Given the description of an element on the screen output the (x, y) to click on. 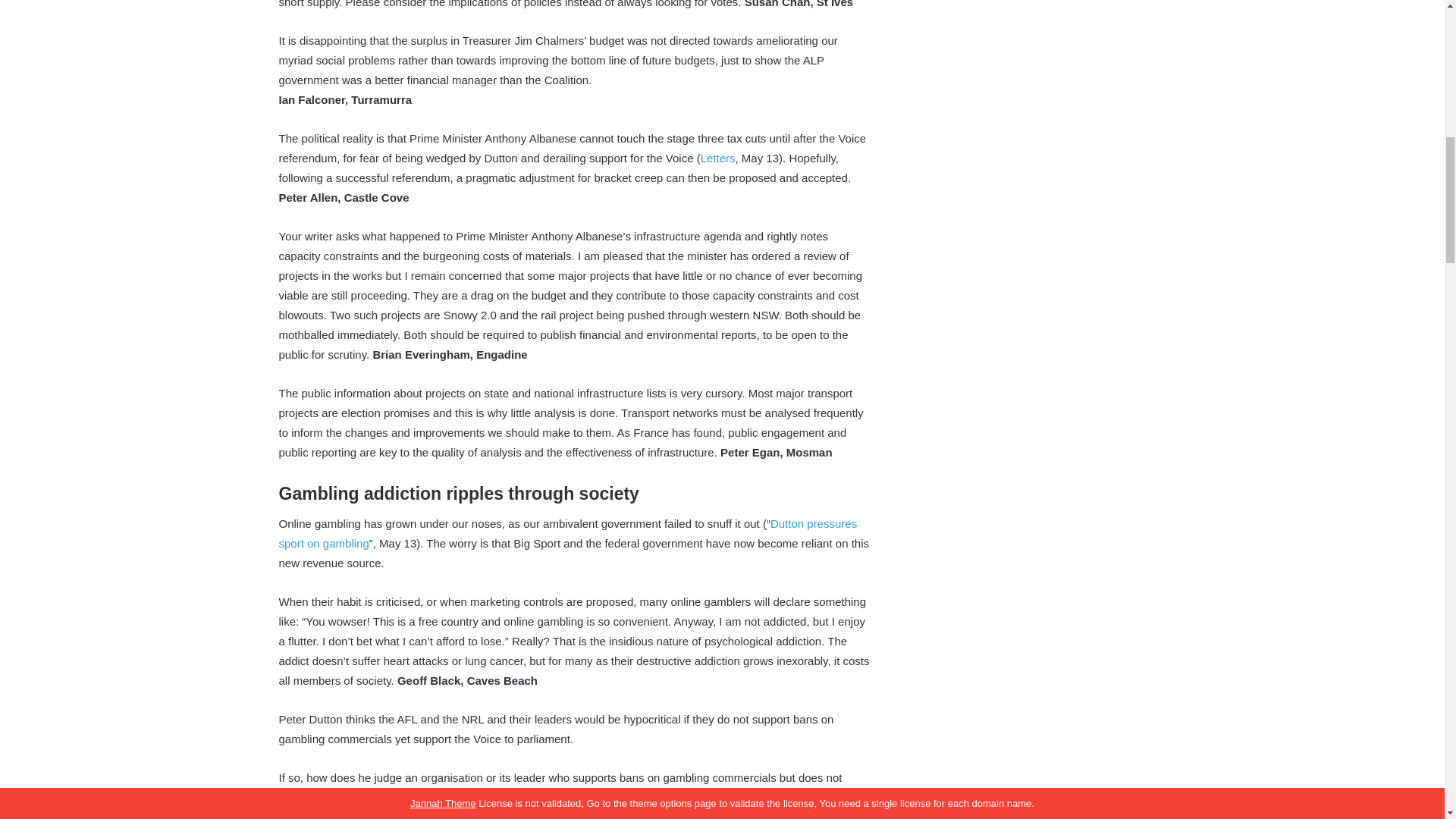
Dutton pressures sport on gambling (568, 532)
Letters (717, 157)
